Given the description of an element on the screen output the (x, y) to click on. 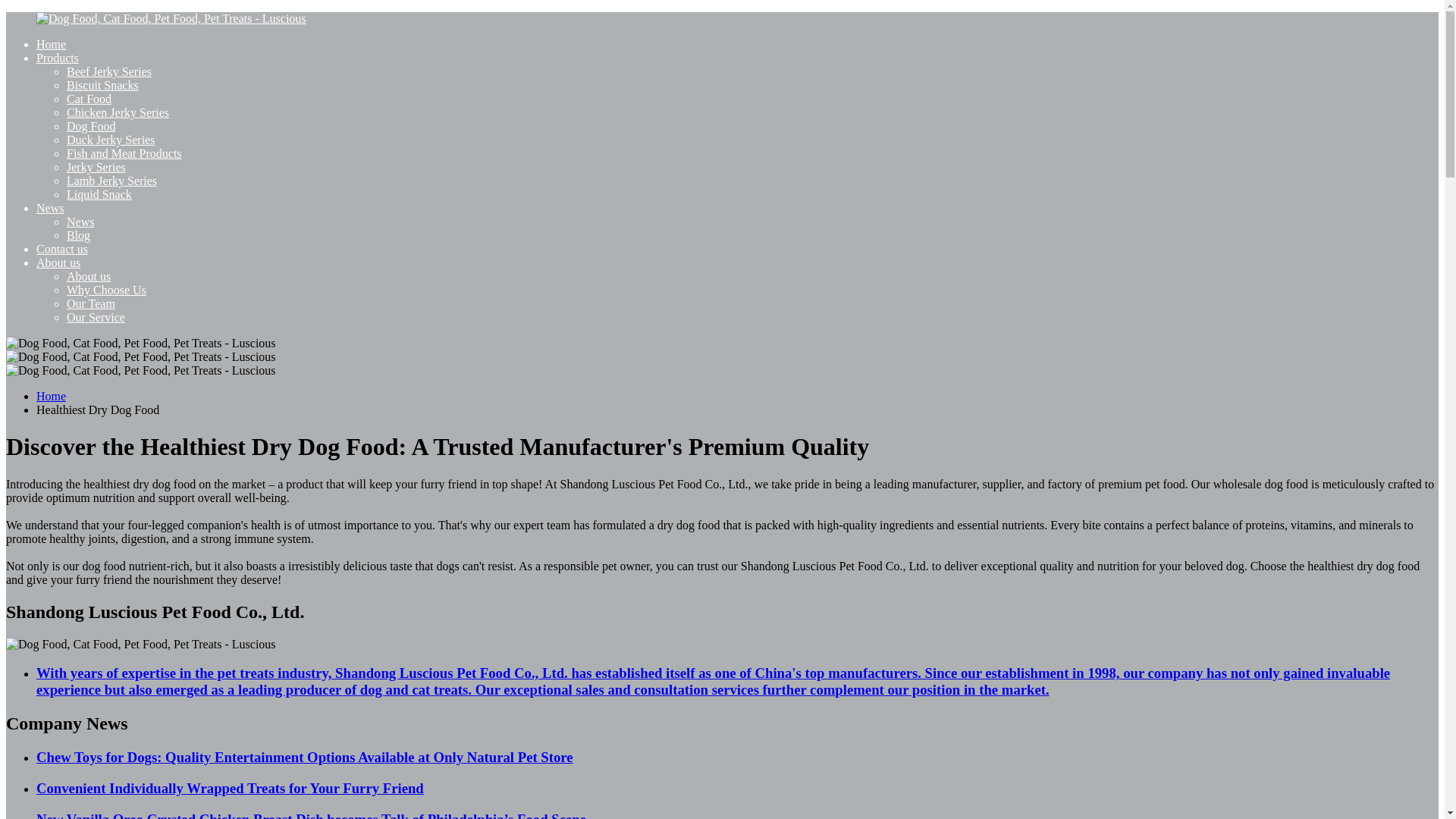
News (50, 207)
Cat Food (89, 98)
Why Choose Us (106, 289)
Contact us (61, 248)
Dog Food (90, 125)
Blog (78, 235)
Jerky Series (95, 166)
Biscuit Snacks (102, 84)
Lamb Jerky Series (111, 180)
Home (50, 43)
Chicken Jerky Series (117, 112)
Our Service (95, 317)
Home (50, 395)
Duck Jerky Series (110, 139)
Products (57, 57)
